Given the description of an element on the screen output the (x, y) to click on. 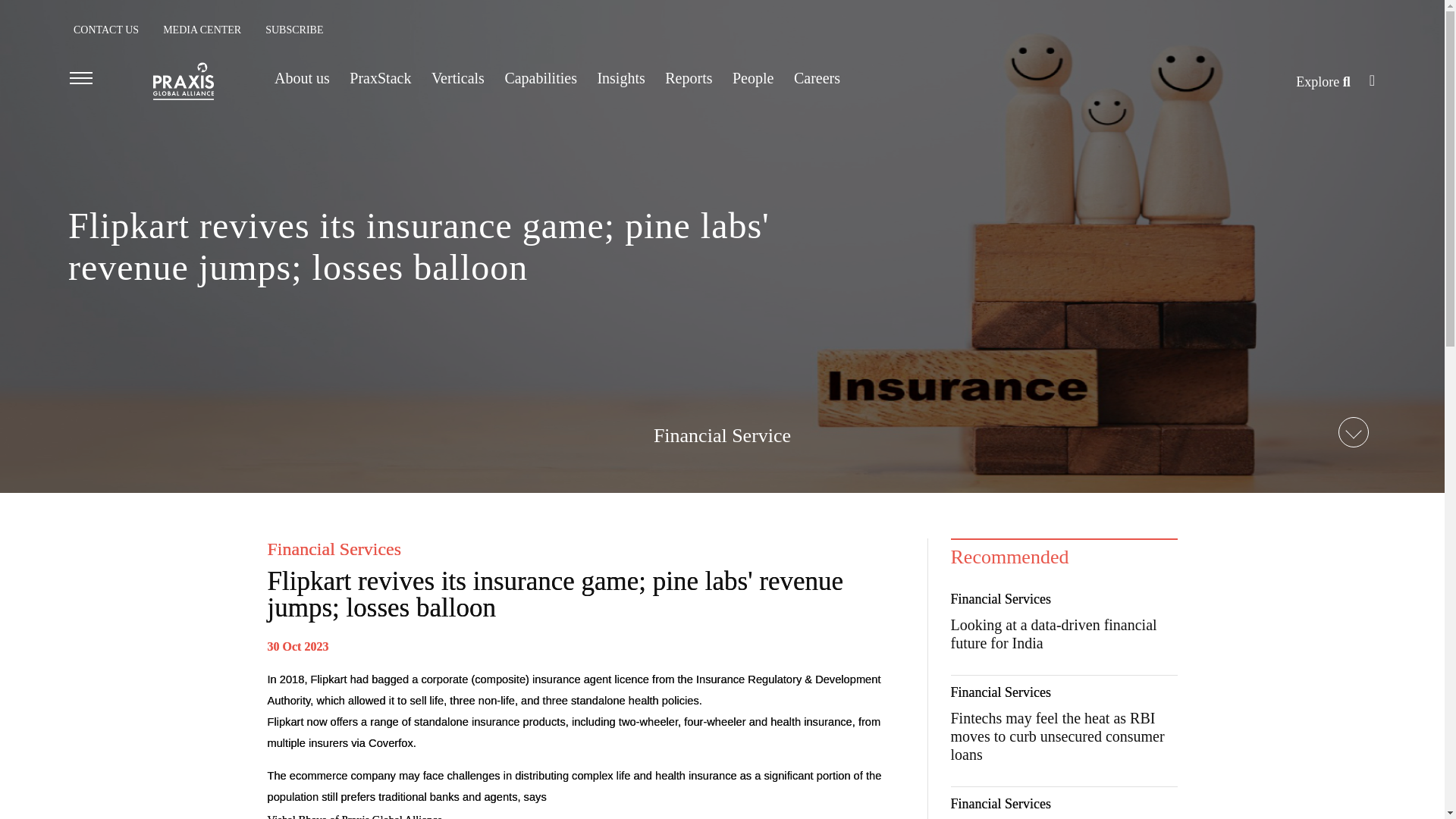
Capabilities (539, 77)
CONTACT US (105, 29)
About us (302, 77)
Verticals (457, 77)
MEDIA CENTER (201, 29)
Reports (688, 77)
SUBSCRIBE (294, 29)
PraxStack (379, 77)
Insights (620, 77)
People (752, 77)
